Given the description of an element on the screen output the (x, y) to click on. 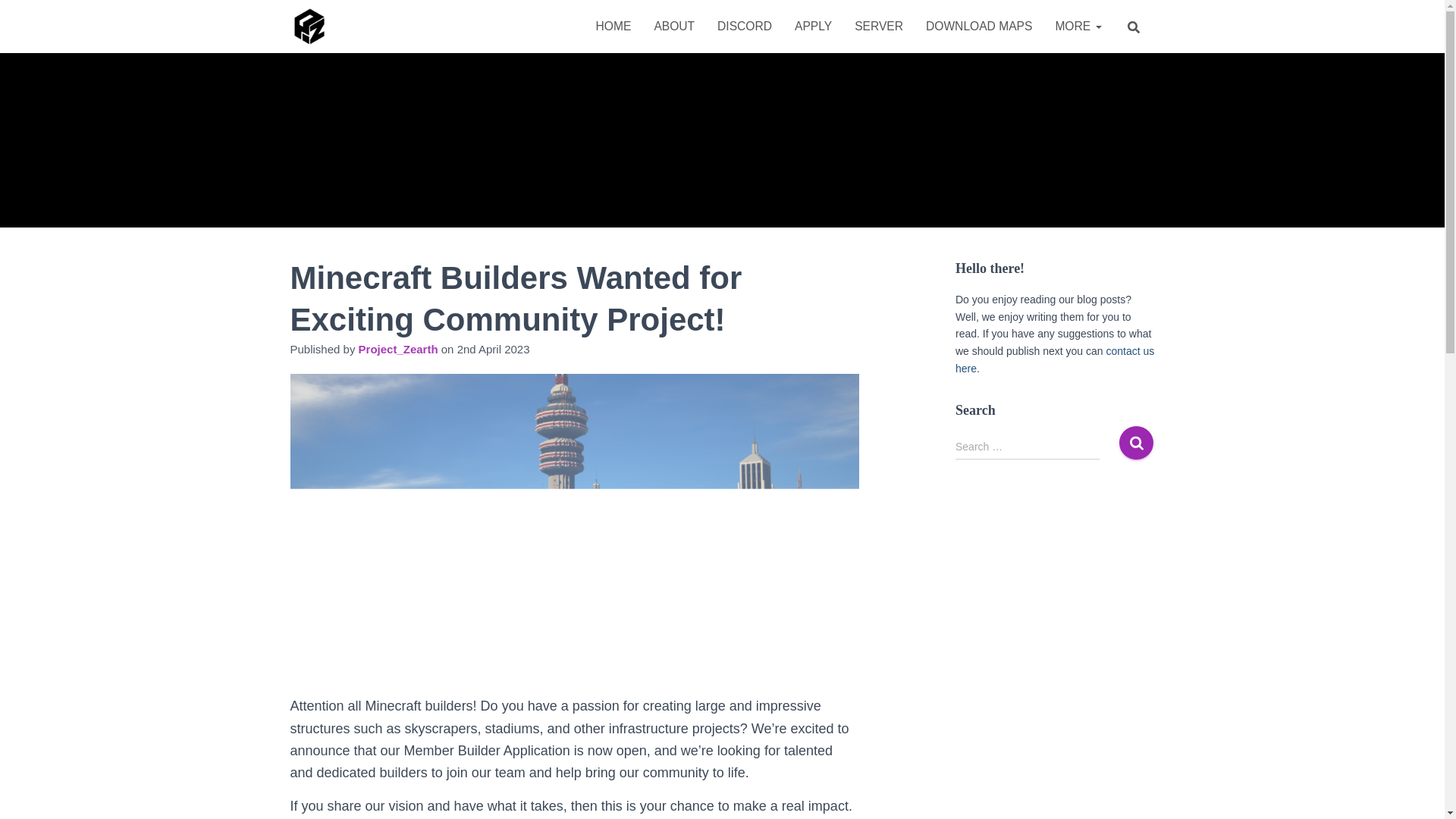
DOWNLOAD MAPS (978, 26)
Search (1136, 441)
HOME (614, 26)
Server (878, 26)
Download maps (978, 26)
ABOUT (674, 26)
Apply (813, 26)
Search (1136, 441)
About (674, 26)
MORE (1077, 26)
